Given the description of an element on the screen output the (x, y) to click on. 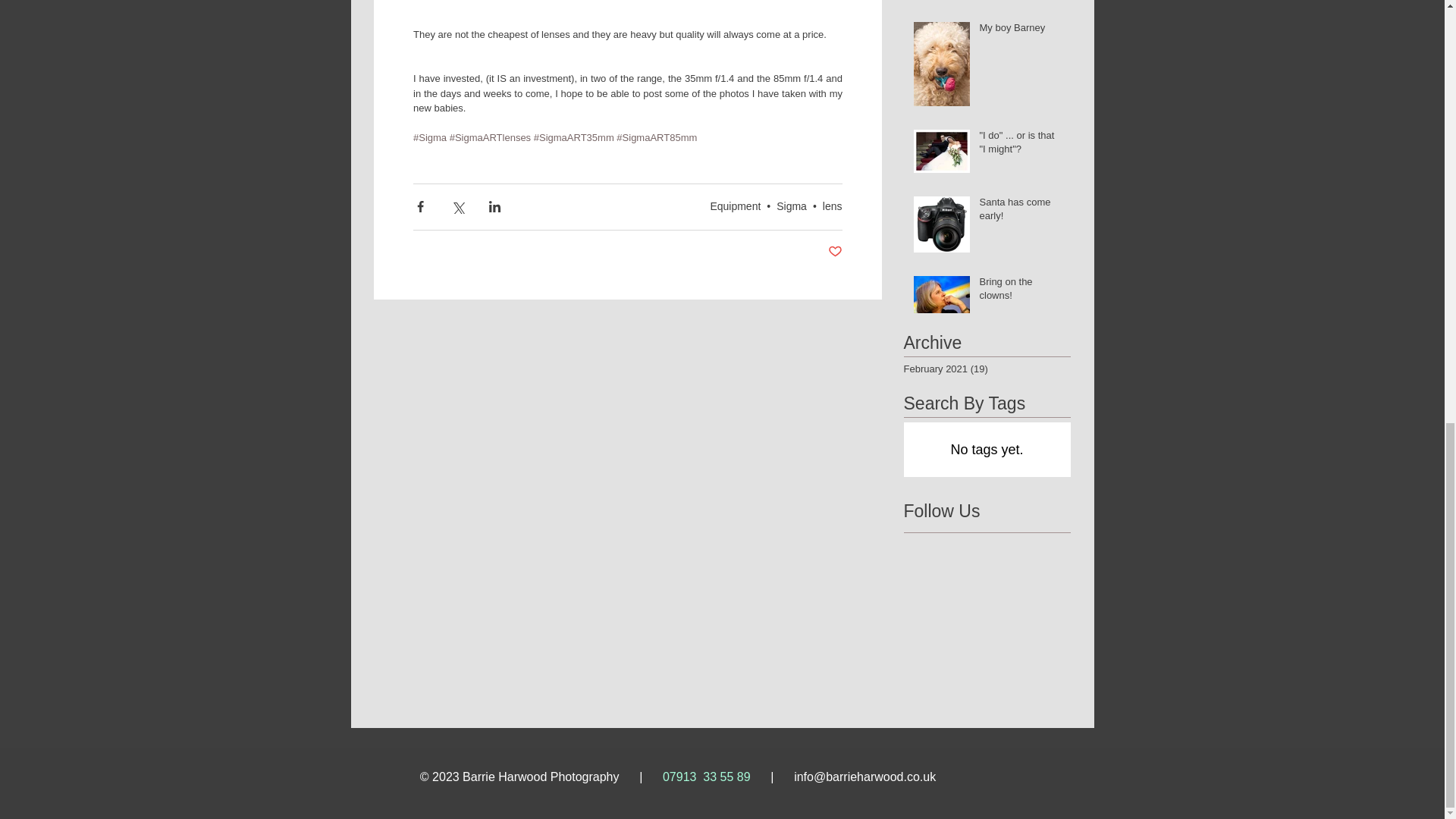
Santa has come early! (1020, 212)
Sigma (791, 205)
Equipment (735, 205)
My boy Barney (1020, 30)
lens (832, 205)
Bring on the clowns! (1020, 291)
"I do" ... or is that "I might"? (1020, 145)
Post not marked as liked (835, 252)
